Given the description of an element on the screen output the (x, y) to click on. 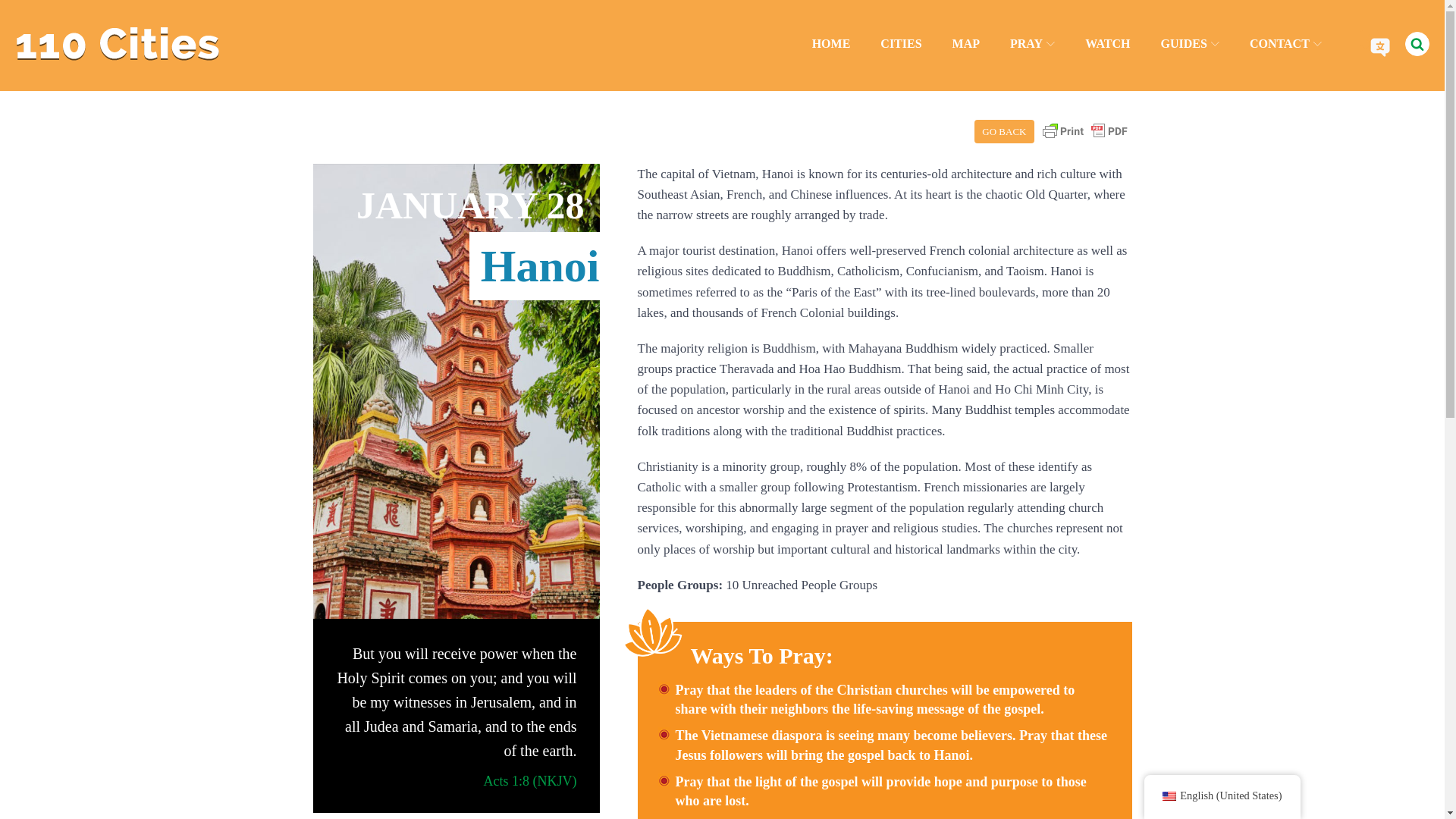
WATCH (1107, 43)
MAP (965, 43)
HOME (831, 43)
PRAY (1032, 43)
GUIDES (1189, 43)
CITIES (900, 43)
CONTACT (1285, 43)
